Given the description of an element on the screen output the (x, y) to click on. 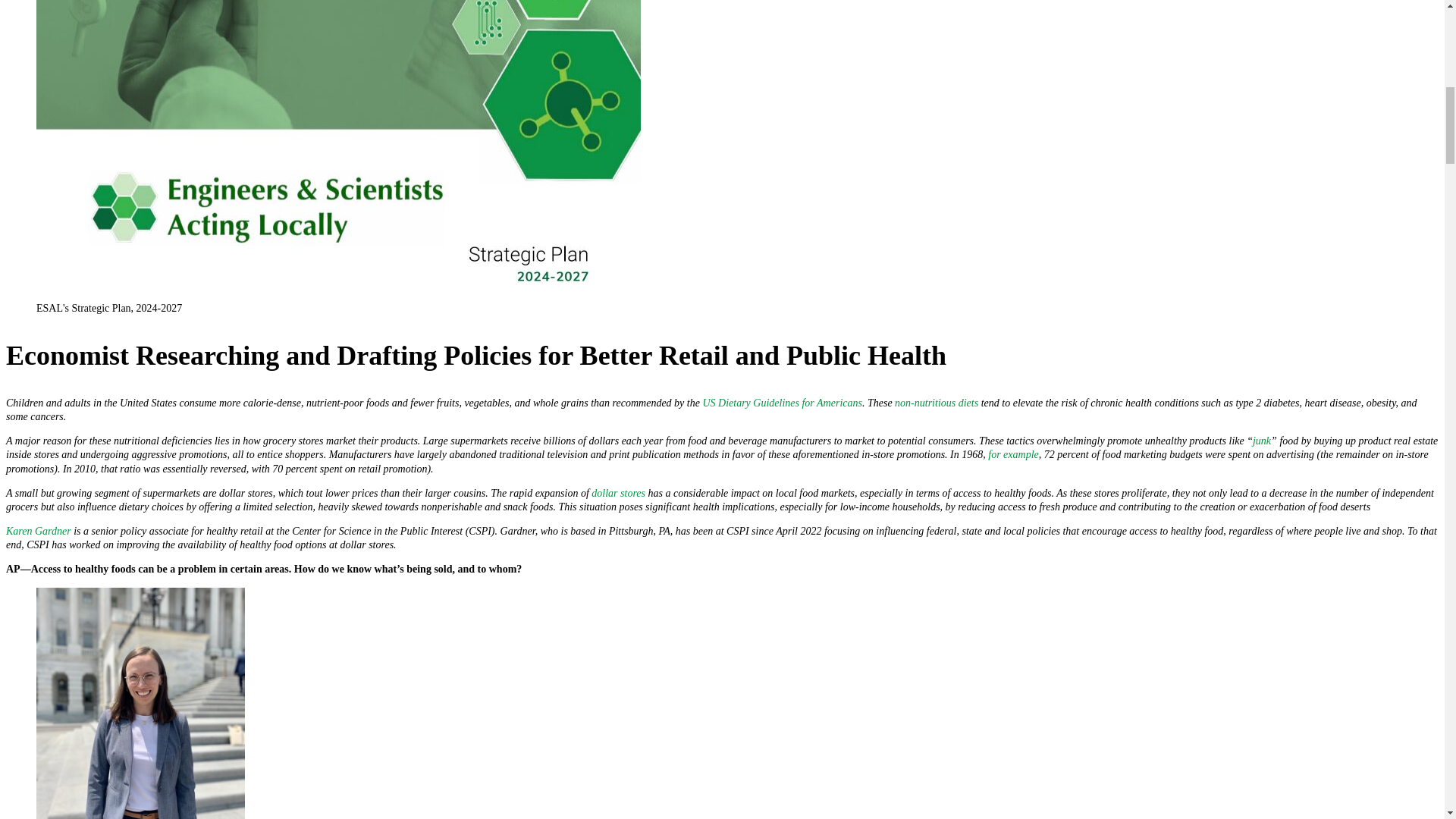
dollar stores (618, 492)
Karen Gardner (38, 531)
non-nutritious diets (936, 402)
junk (1261, 440)
US Dietary Guidelines for Americans (781, 402)
for example (1013, 454)
